Given the description of an element on the screen output the (x, y) to click on. 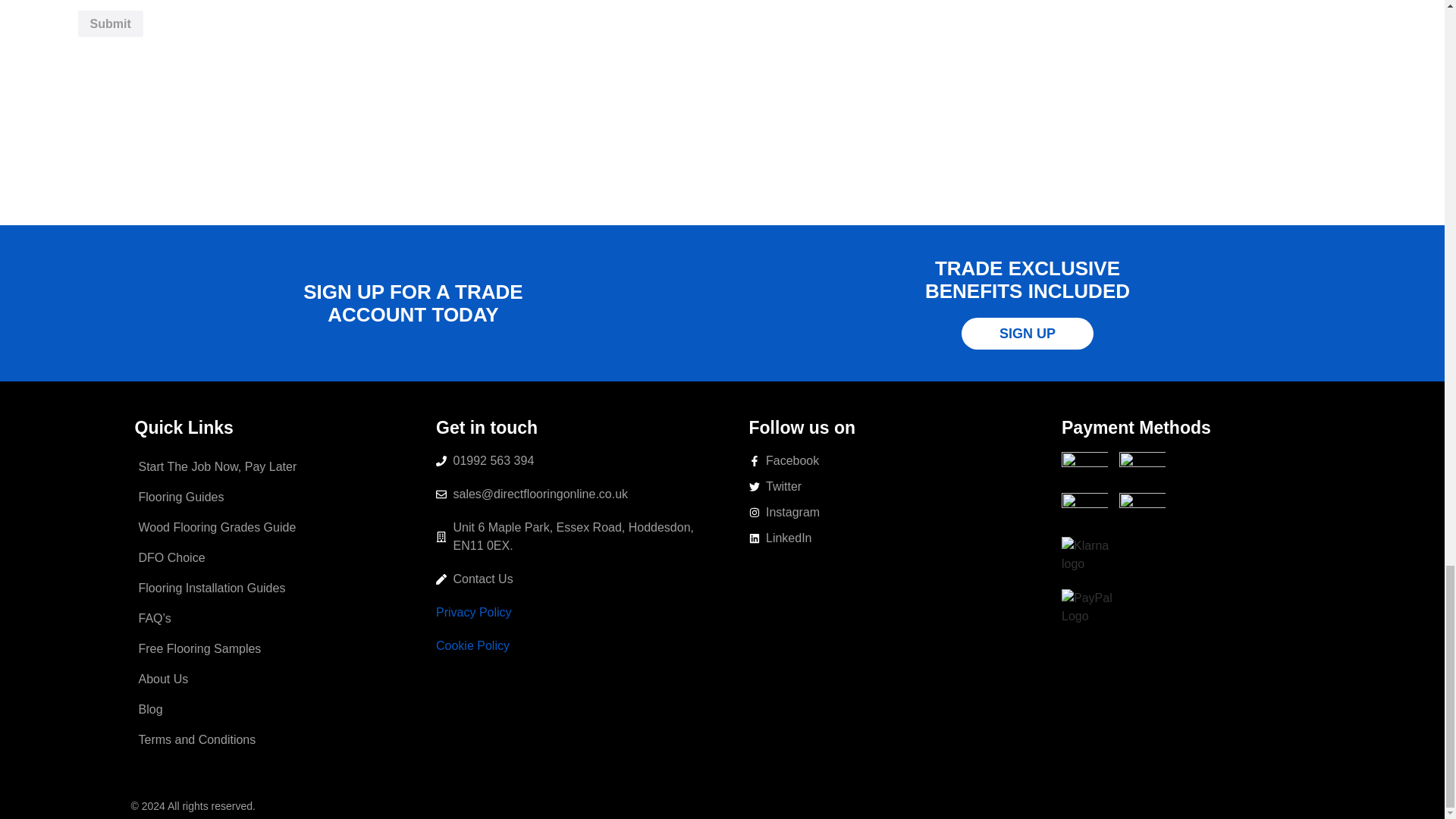
Cookie Policy  (472, 645)
Privacy Policy  (473, 612)
Submit (109, 23)
